Given the description of an element on the screen output the (x, y) to click on. 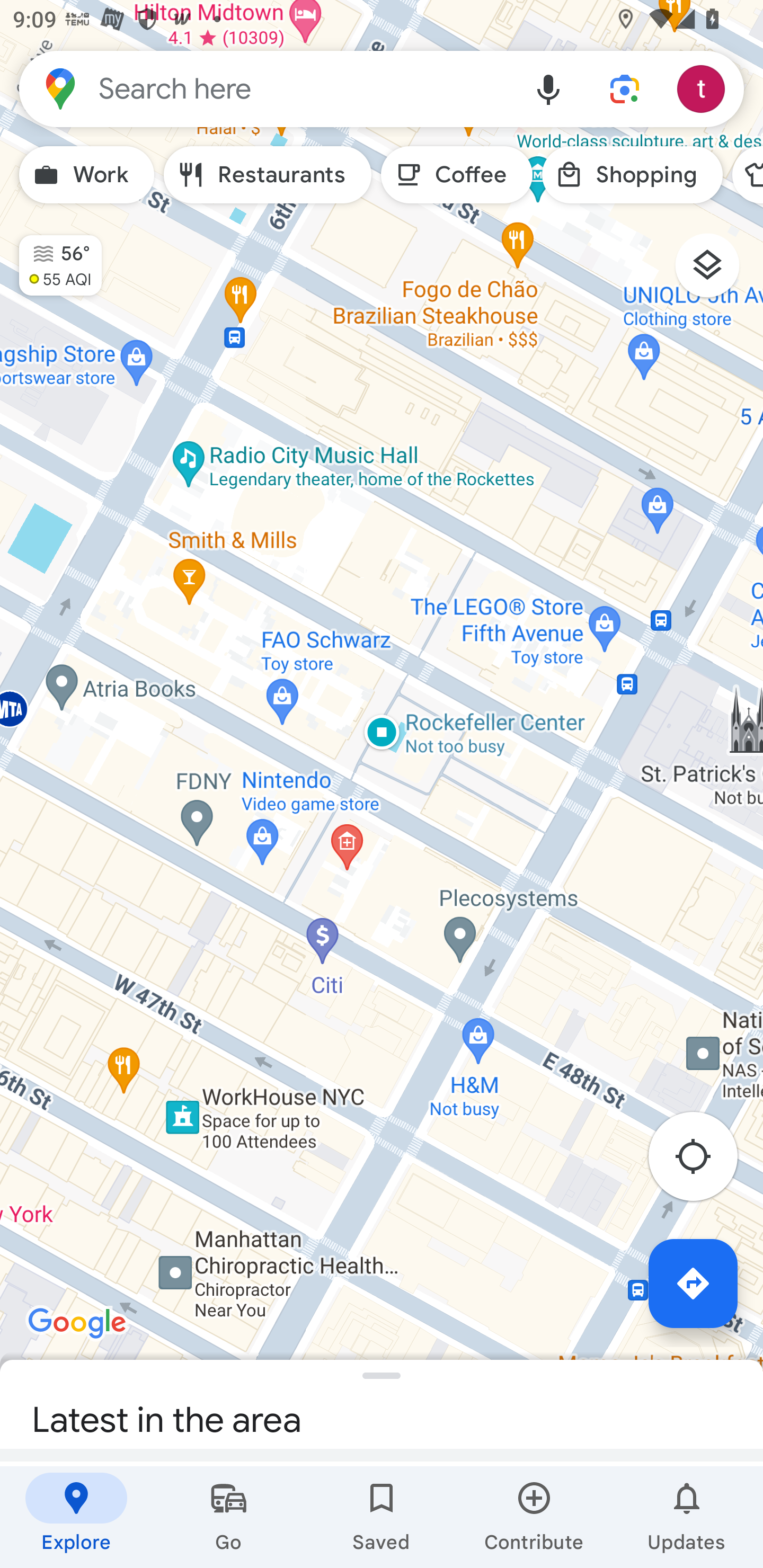
Search here (264, 88)
Voice search (548, 88)
Lens in Maps (624, 88)
Work (86, 174)
Restaurants Search for Restaurants (267, 174)
Coffee Search for Coffee (456, 174)
Shopping Search for Shopping (631, 174)
Mist, 56°, Moderate, 55 AQI 56° 55 AQI (50, 257)
Layers (716, 271)
Re-center map to your location (702, 1161)
Directions (692, 1283)
Go (228, 1517)
Saved (381, 1517)
Contribute (533, 1517)
Updates (686, 1517)
